Given the description of an element on the screen output the (x, y) to click on. 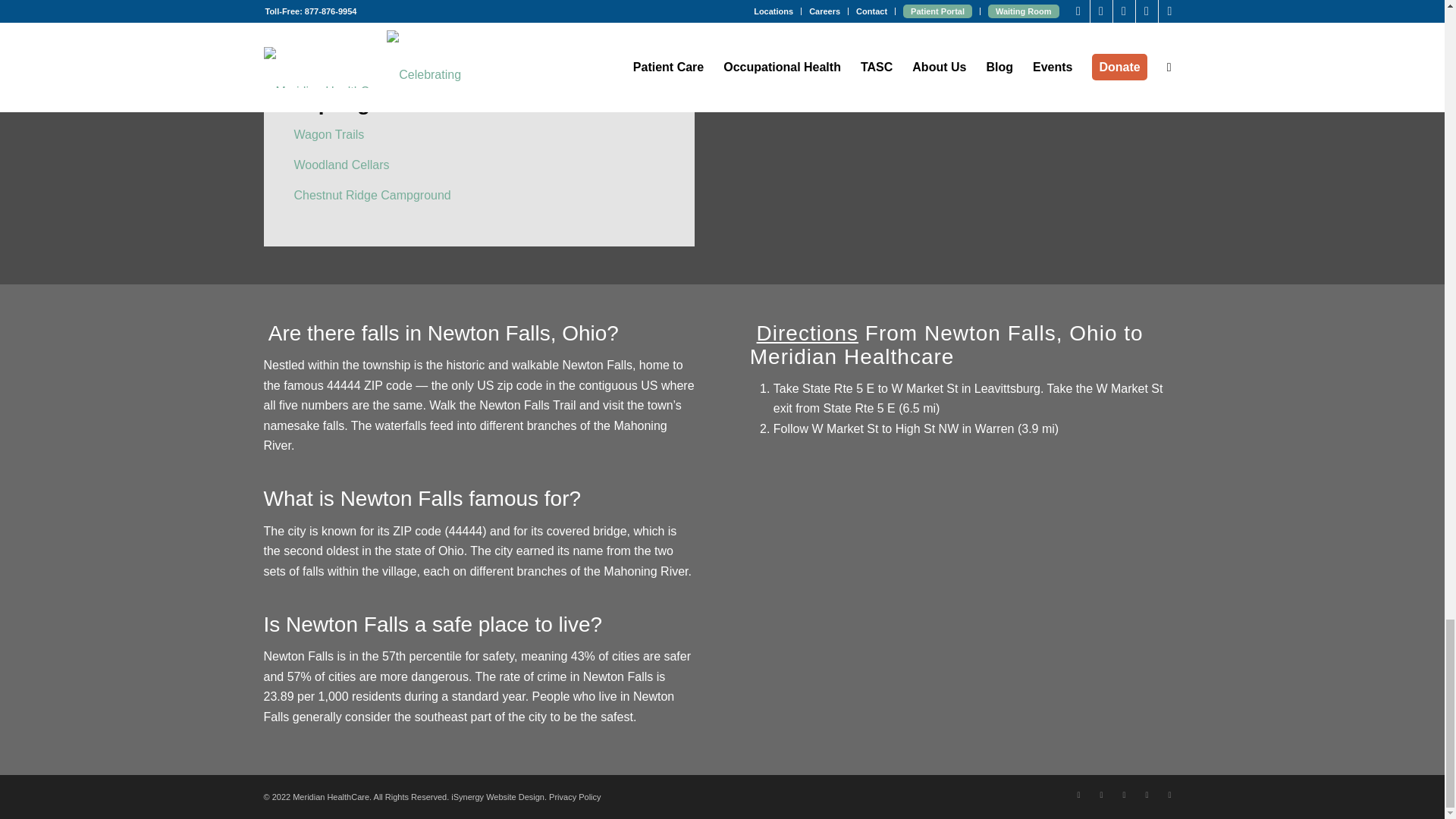
Twitter (1101, 793)
Youtube (1124, 793)
Instagram (1146, 793)
Facebook (1078, 793)
